Given the description of an element on the screen output the (x, y) to click on. 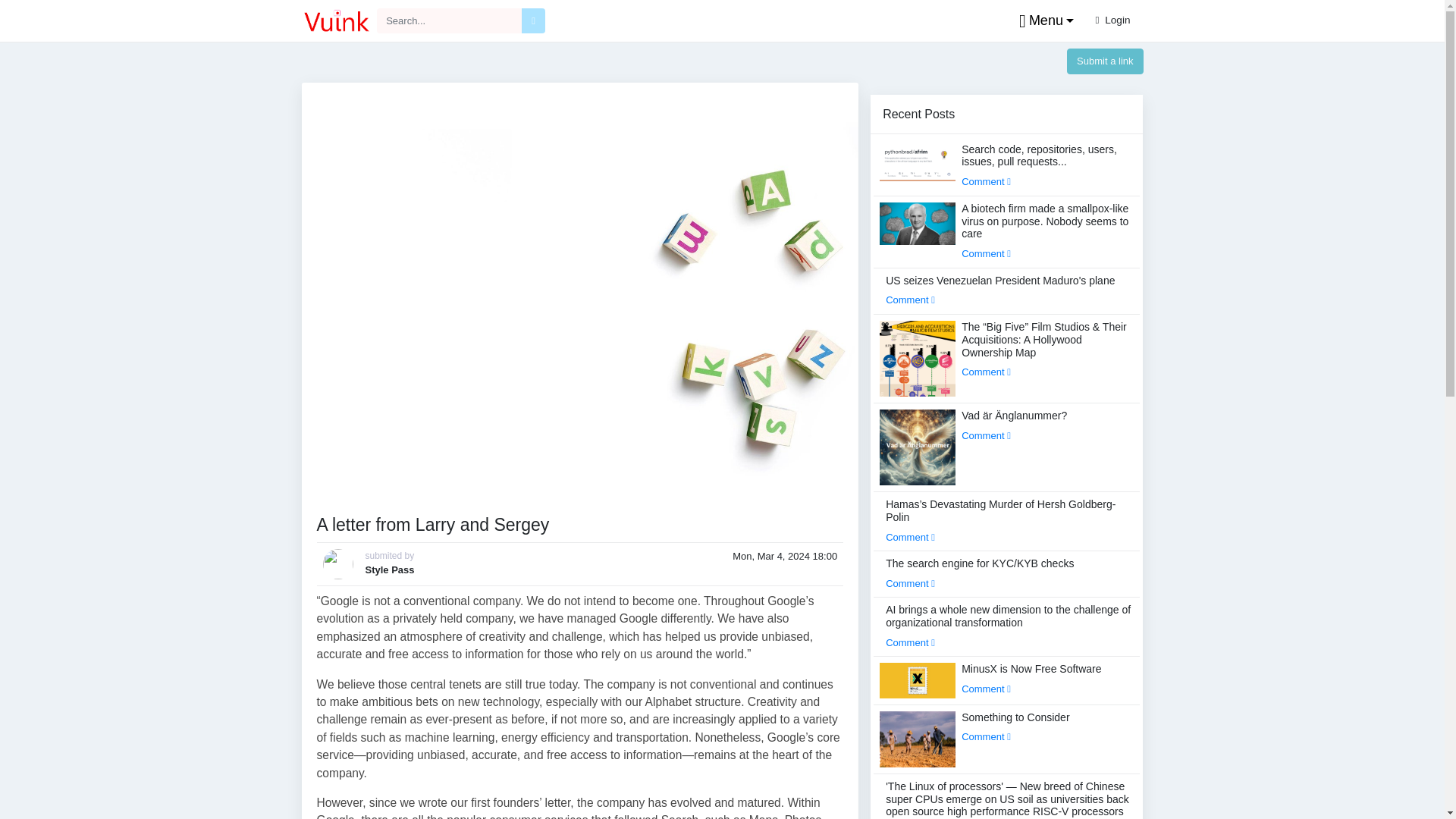
Submit a link (1104, 61)
Menu (1043, 20)
